Given the description of an element on the screen output the (x, y) to click on. 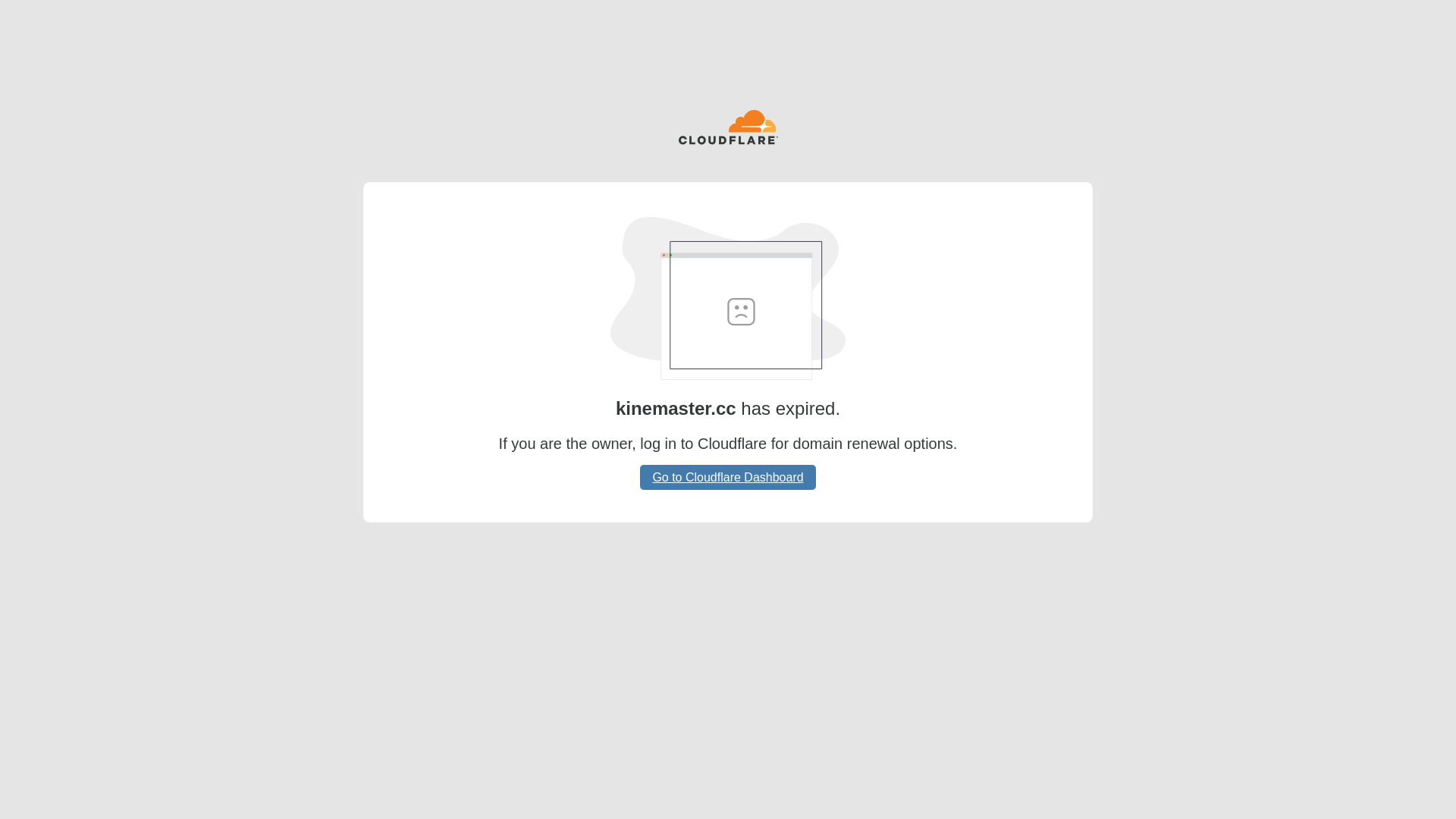
Go to Cloudflare Dashboard Element type: text (727, 476)
